Given the description of an element on the screen output the (x, y) to click on. 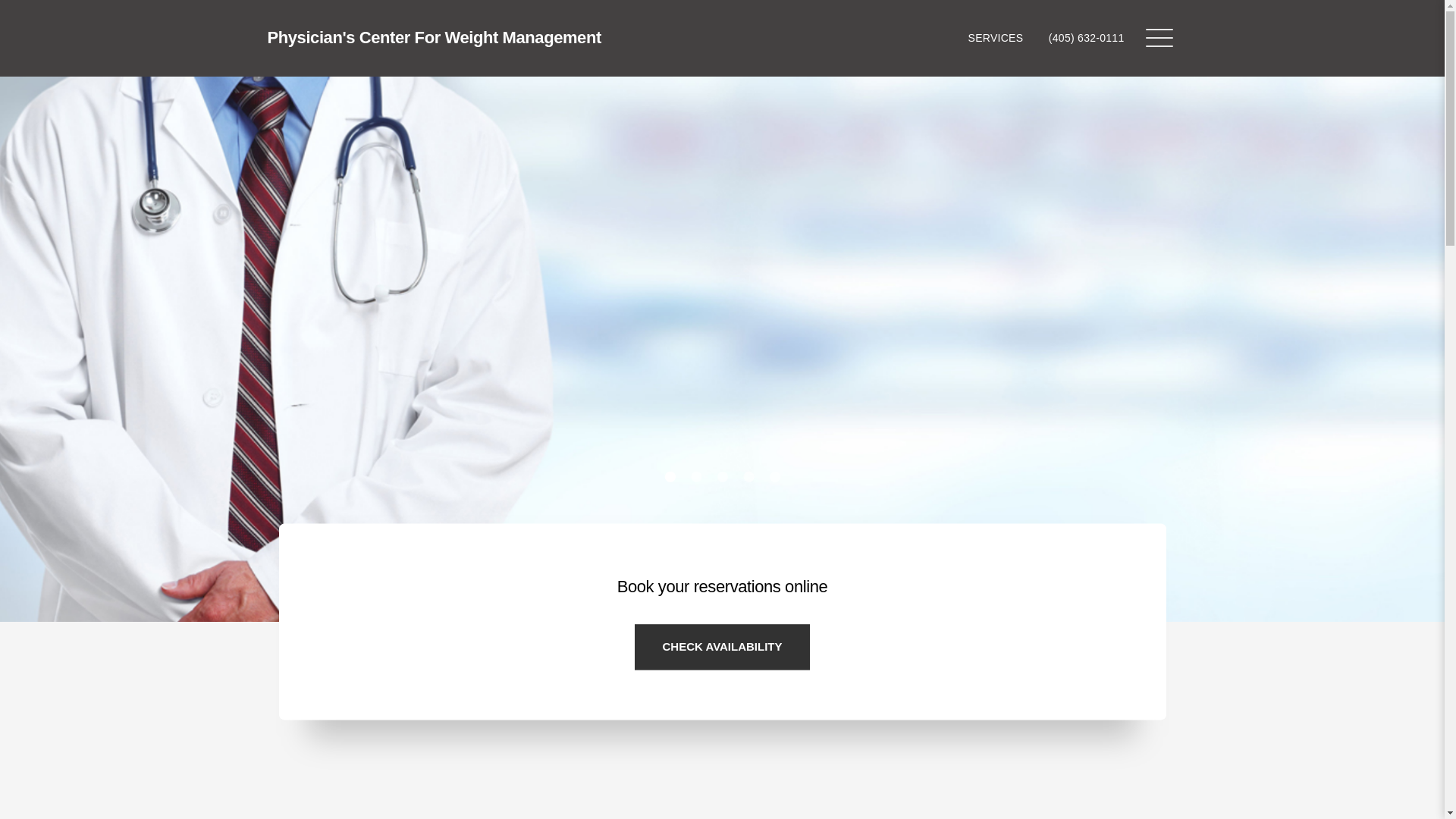
SERVICES (995, 37)
Physician's Center For Weight Management (432, 38)
CHECK AVAILABILITY (721, 647)
